Given the description of an element on the screen output the (x, y) to click on. 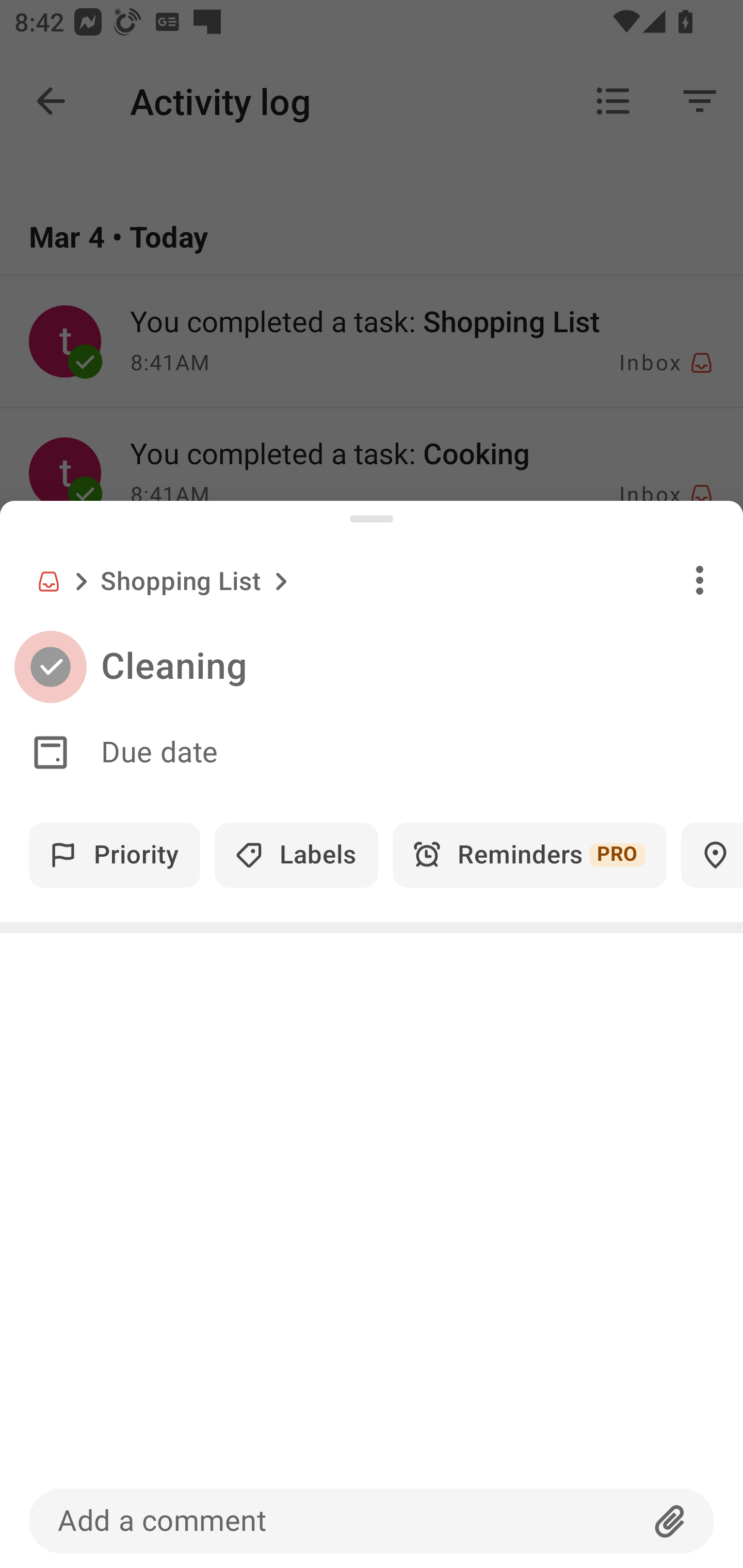
Overflow menu (699, 580)
Complete (50, 667)
Cleaning (422, 666)
Date Due date (371, 752)
Priority (113, 855)
Labels (296, 855)
Reminders PRO (529, 855)
Locations PRO (712, 855)
Add a comment Attachment (371, 1520)
Attachment (670, 1520)
